Given the description of an element on the screen output the (x, y) to click on. 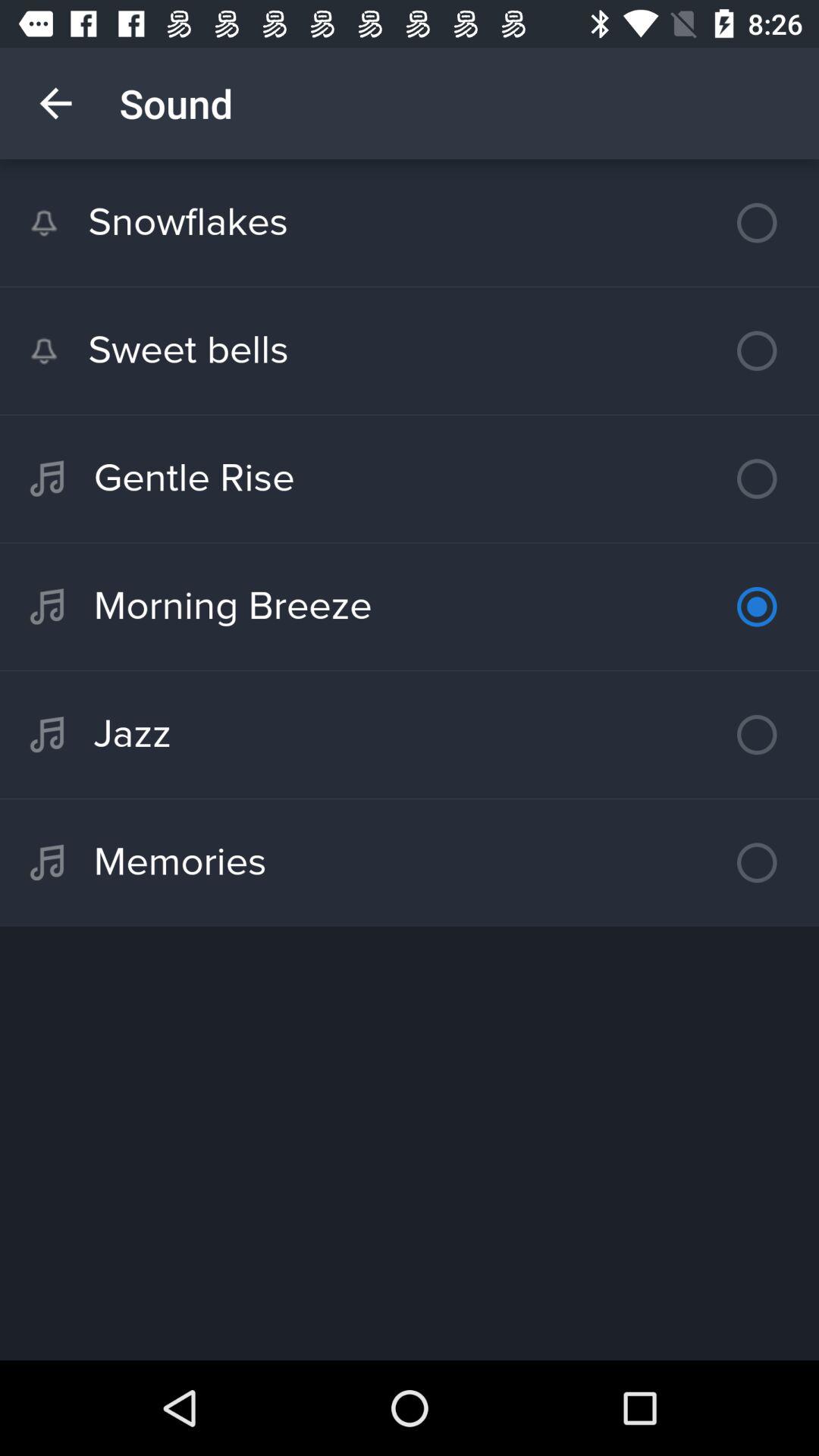
open the snowflakes item (409, 222)
